Given the description of an element on the screen output the (x, y) to click on. 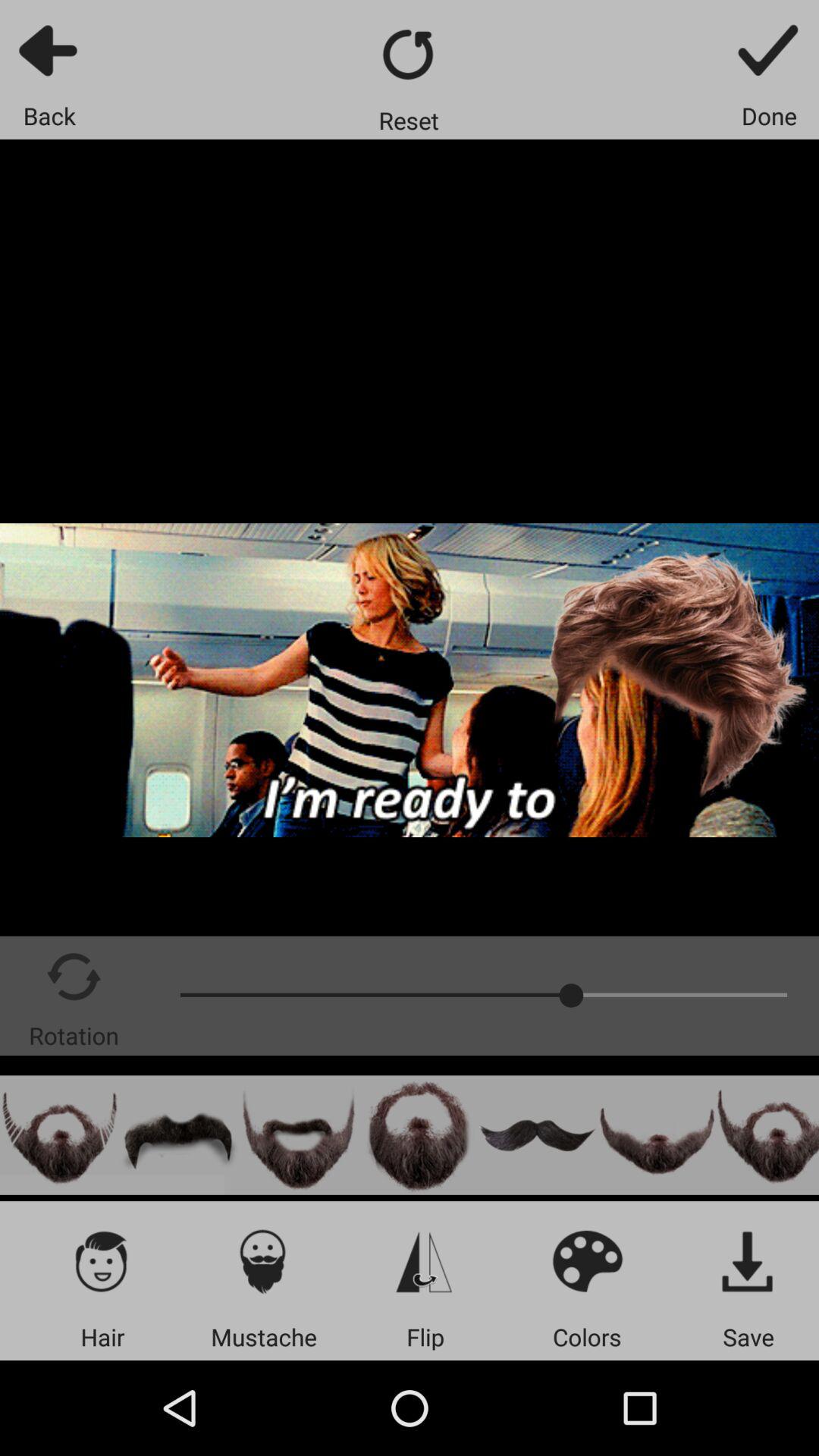
select mustaches (263, 1260)
